Given the description of an element on the screen output the (x, y) to click on. 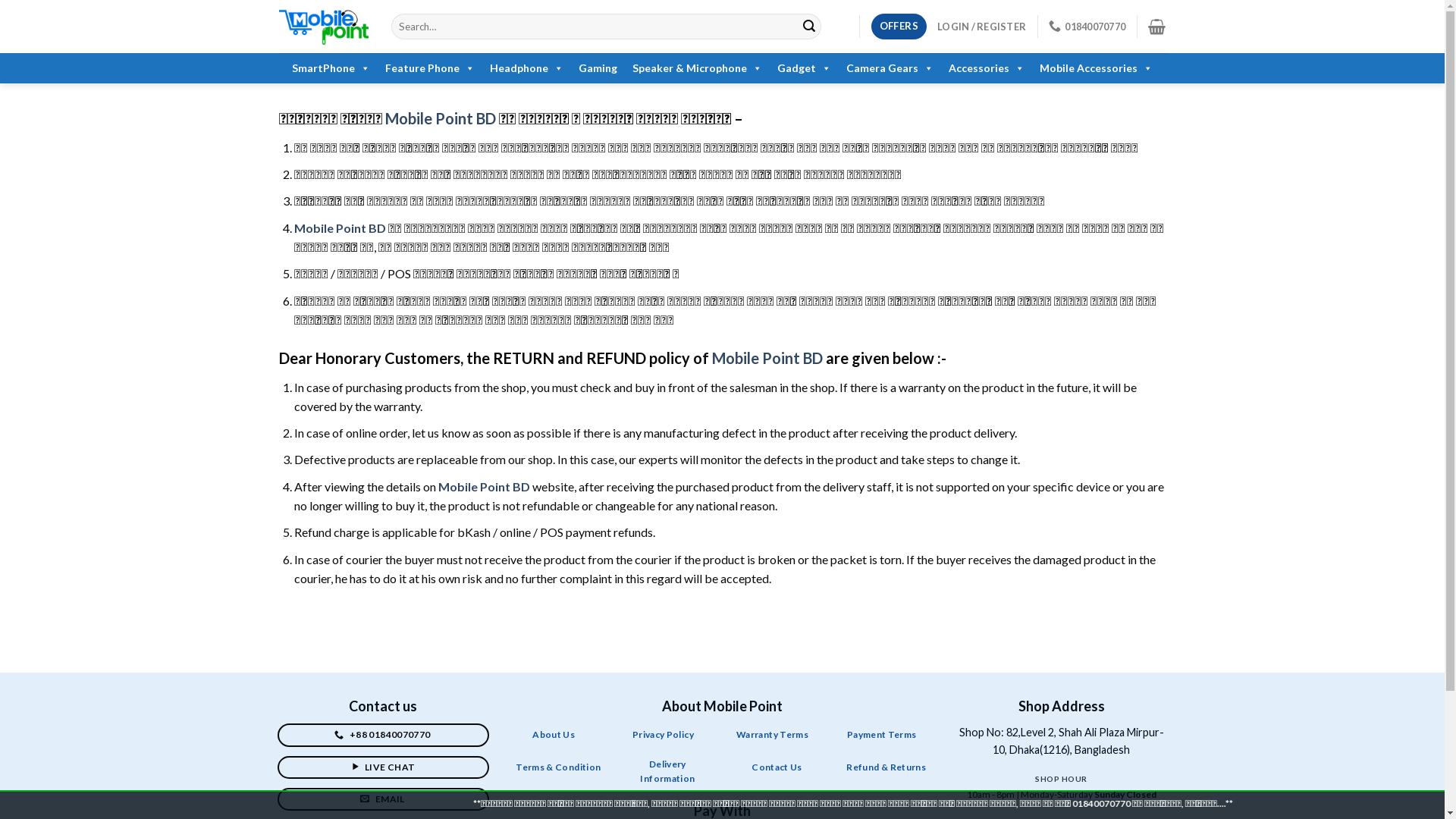
Search Element type: text (808, 26)
EMAIL Element type: text (383, 798)
Mobile Point BD Element type: text (766, 357)
SmartPhone Element type: text (330, 68)
LIVE CHAT Element type: text (383, 767)
Mobile Point BD Element type: text (484, 486)
Payment Terms Element type: text (881, 734)
About Us Element type: text (553, 734)
Feature Phone Element type: text (429, 68)
Camera Gears Element type: text (889, 68)
+88 01840070770 Element type: text (383, 734)
OFFERS Element type: text (898, 26)
Mobile Point BD Element type: text (339, 227)
Gaming Element type: text (597, 68)
Privacy Policy Element type: text (663, 734)
Speaker & Microphone Element type: text (696, 68)
Gadget Element type: text (803, 68)
01840070770 Element type: text (1086, 25)
Terms & Condition Element type: text (557, 767)
Headphone Element type: text (526, 68)
Mobile Point BD Element type: text (440, 118)
Delivery Information Element type: text (666, 773)
Mobile Accessories Element type: text (1096, 68)
Cart Element type: hover (1156, 26)
Warranty Terms Element type: text (772, 734)
LOGIN / REGISTER Element type: text (981, 26)
Contact Us Element type: text (776, 767)
Refund & Returns Element type: text (885, 767)
Accessories Element type: text (986, 68)
